Given the description of an element on the screen output the (x, y) to click on. 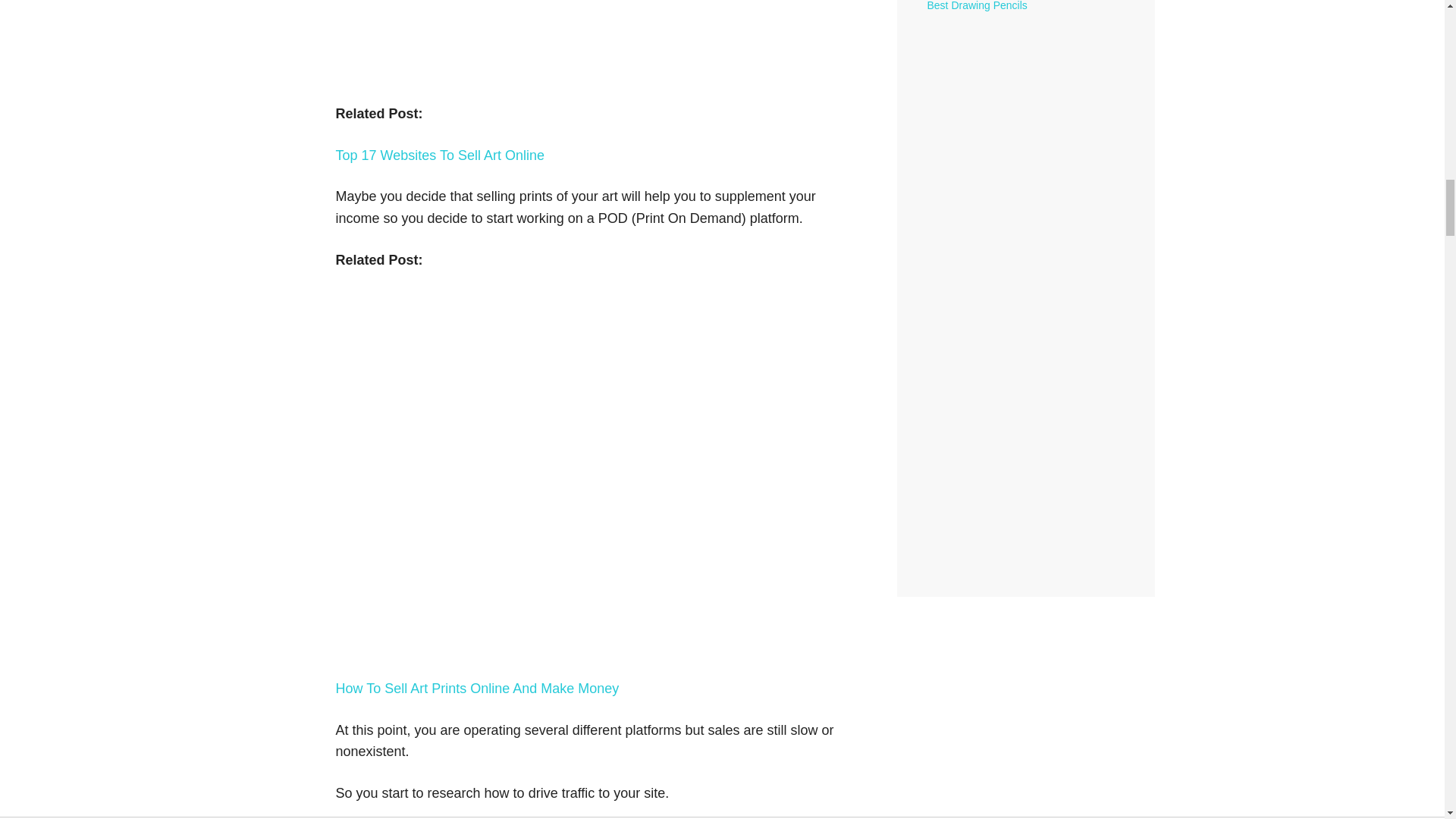
How To Sell Art Prints Online And Make Money (476, 688)
Top 17 Websites To Sell Art Online (438, 155)
